Given the description of an element on the screen output the (x, y) to click on. 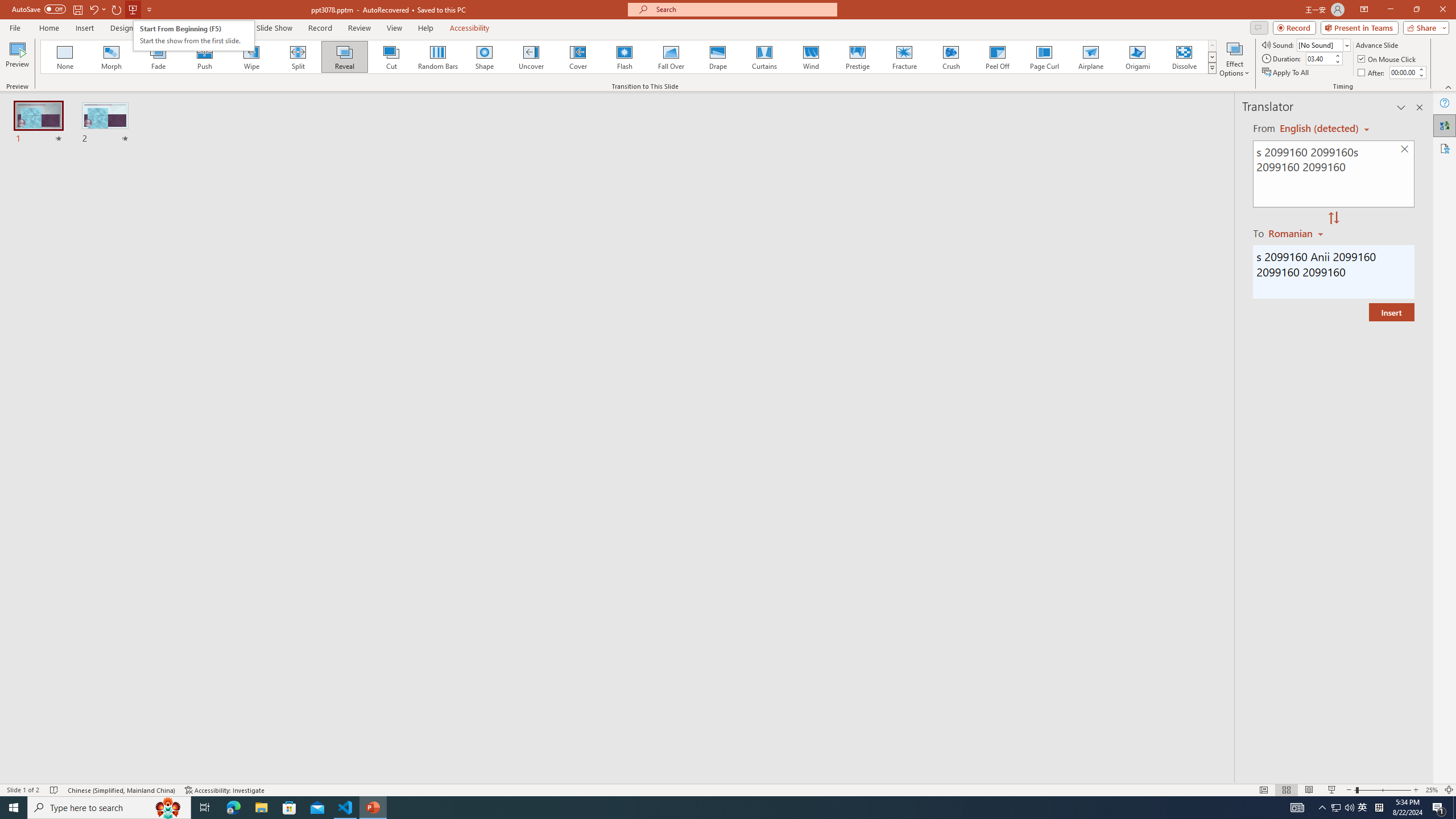
Flash (624, 56)
Apply To All (1286, 72)
Fade (158, 56)
Cover (577, 56)
After (1403, 72)
